Given the description of an element on the screen output the (x, y) to click on. 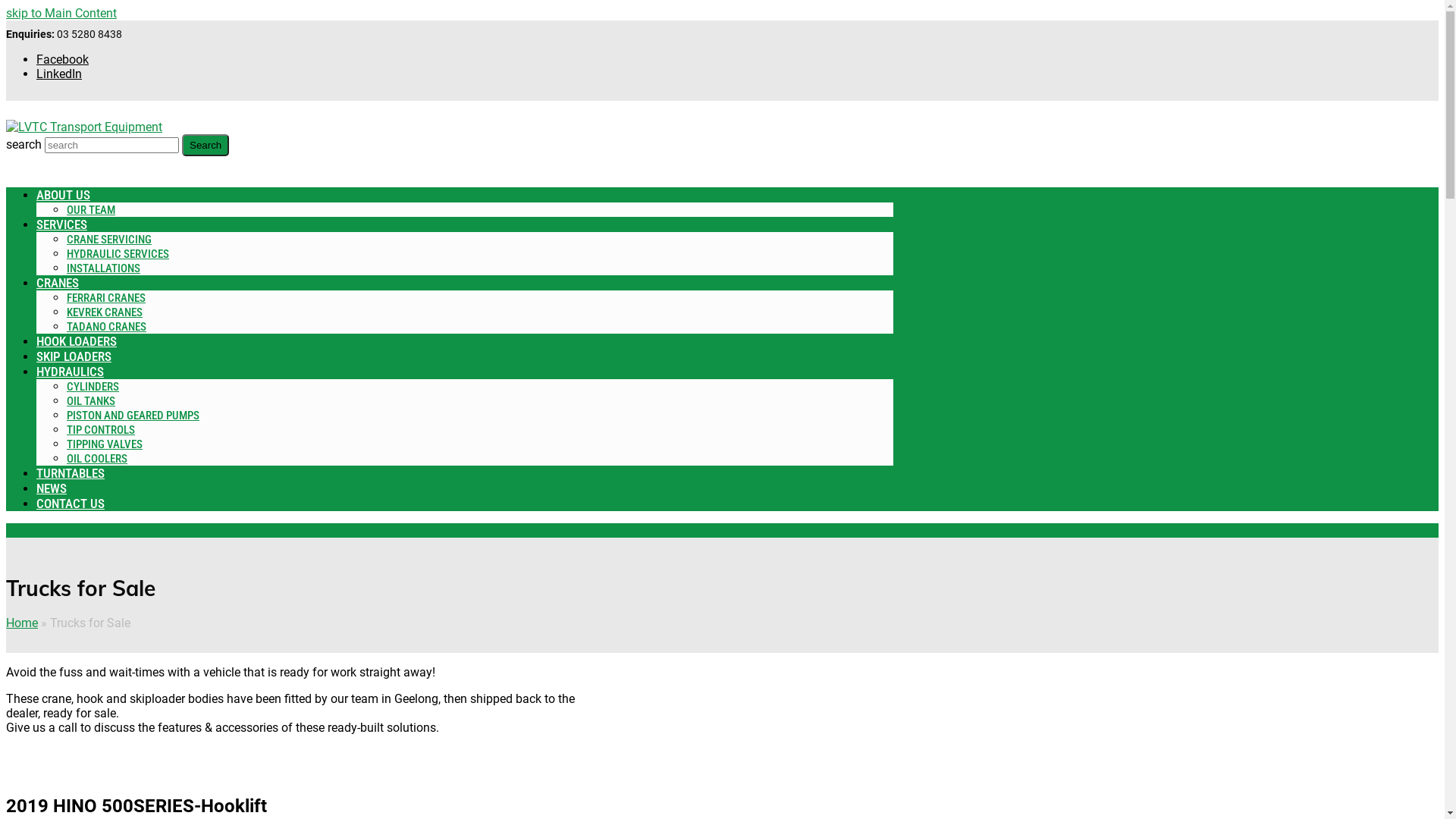
OIL COOLERS Element type: text (96, 458)
TIP CONTROLS Element type: text (100, 429)
KEVREK CRANES Element type: text (104, 311)
CRANES Element type: text (57, 283)
FERRARI CRANES Element type: text (105, 297)
CRANE SERVICING Element type: text (108, 239)
skip to Main Content Element type: text (61, 13)
Home Element type: text (21, 622)
HYDRAULICS Element type: text (69, 371)
SERVICES Element type: text (61, 224)
Menu Element type: text (21, 530)
TURNTABLES Element type: text (70, 473)
HOOK LOADERS Element type: text (76, 341)
SKIP LOADERS Element type: text (73, 356)
NEWS Element type: text (51, 488)
CYLINDERS Element type: text (92, 386)
HYDRAULIC SERVICES Element type: text (117, 253)
LinkedIn Element type: text (58, 73)
Search Element type: text (205, 145)
OUR TEAM Element type: text (90, 209)
CONTACT US Element type: text (70, 503)
INSTALLATIONS Element type: text (103, 267)
PISTON AND GEARED PUMPS Element type: text (132, 414)
ABOUT US Element type: text (63, 195)
TIPPING VALVES Element type: text (104, 443)
OIL TANKS Element type: text (90, 400)
TADANO CRANES Element type: text (106, 326)
Facebook Element type: text (62, 59)
